Given the description of an element on the screen output the (x, y) to click on. 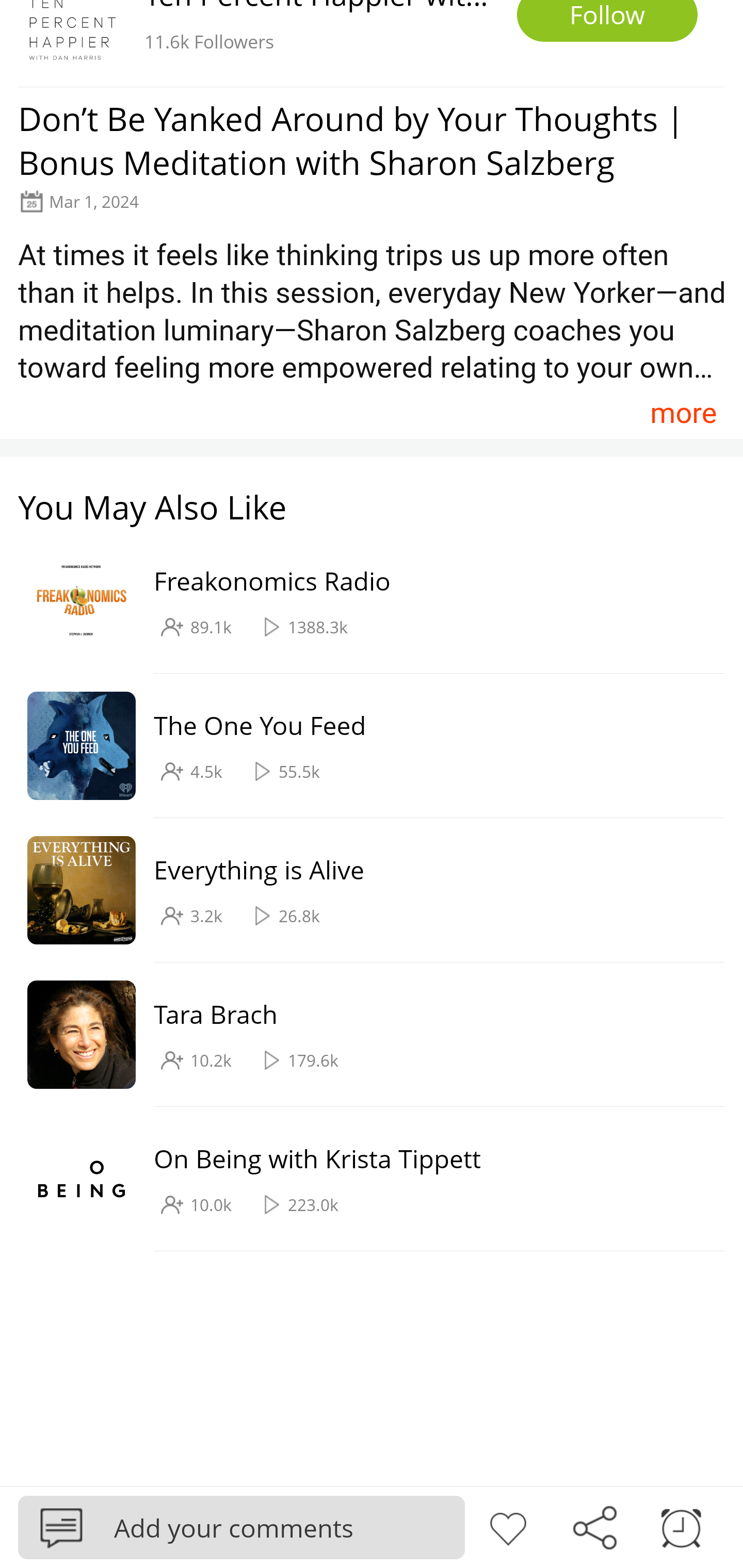
Follow (607, 21)
more (682, 412)
Freakonomics Radio 89.1k 1388.3k (362, 601)
The One You Feed 4.5k 55.5k (362, 746)
Everything is Alive 3.2k 26.8k (362, 890)
Tara Brach 10.2k 179.6k (362, 1034)
On Being with Krista Tippett 10.0k 223.0k (362, 1179)
Like (508, 1526)
Share (594, 1526)
Sleep timer (681, 1526)
Podbean Add your comments (241, 1526)
